Given the description of an element on the screen output the (x, y) to click on. 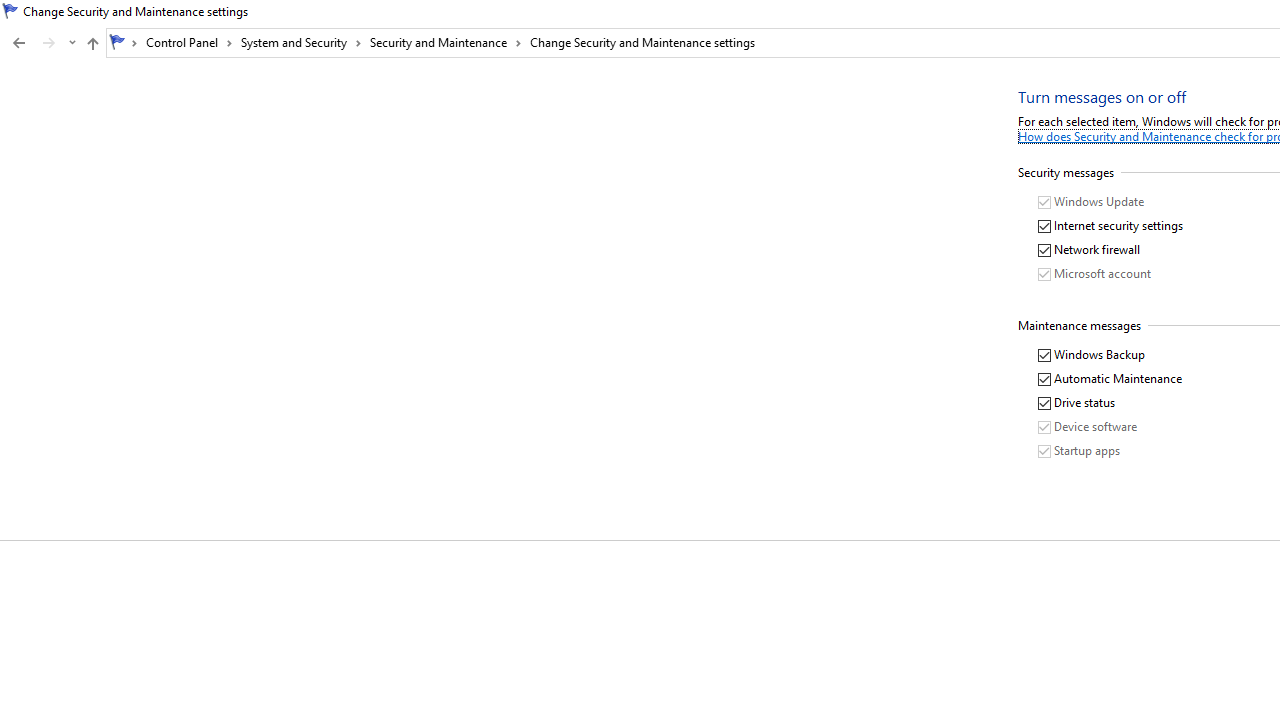
Microsoft account (1095, 273)
Back to Security and Maintenance (Alt + Left Arrow) (18, 43)
Control Panel (189, 42)
Device software (1088, 427)
Change Security and Maintenance settings (642, 42)
Up to "Security and Maintenance" (Alt + Up Arrow) (92, 43)
System (10, 11)
